Given the description of an element on the screen output the (x, y) to click on. 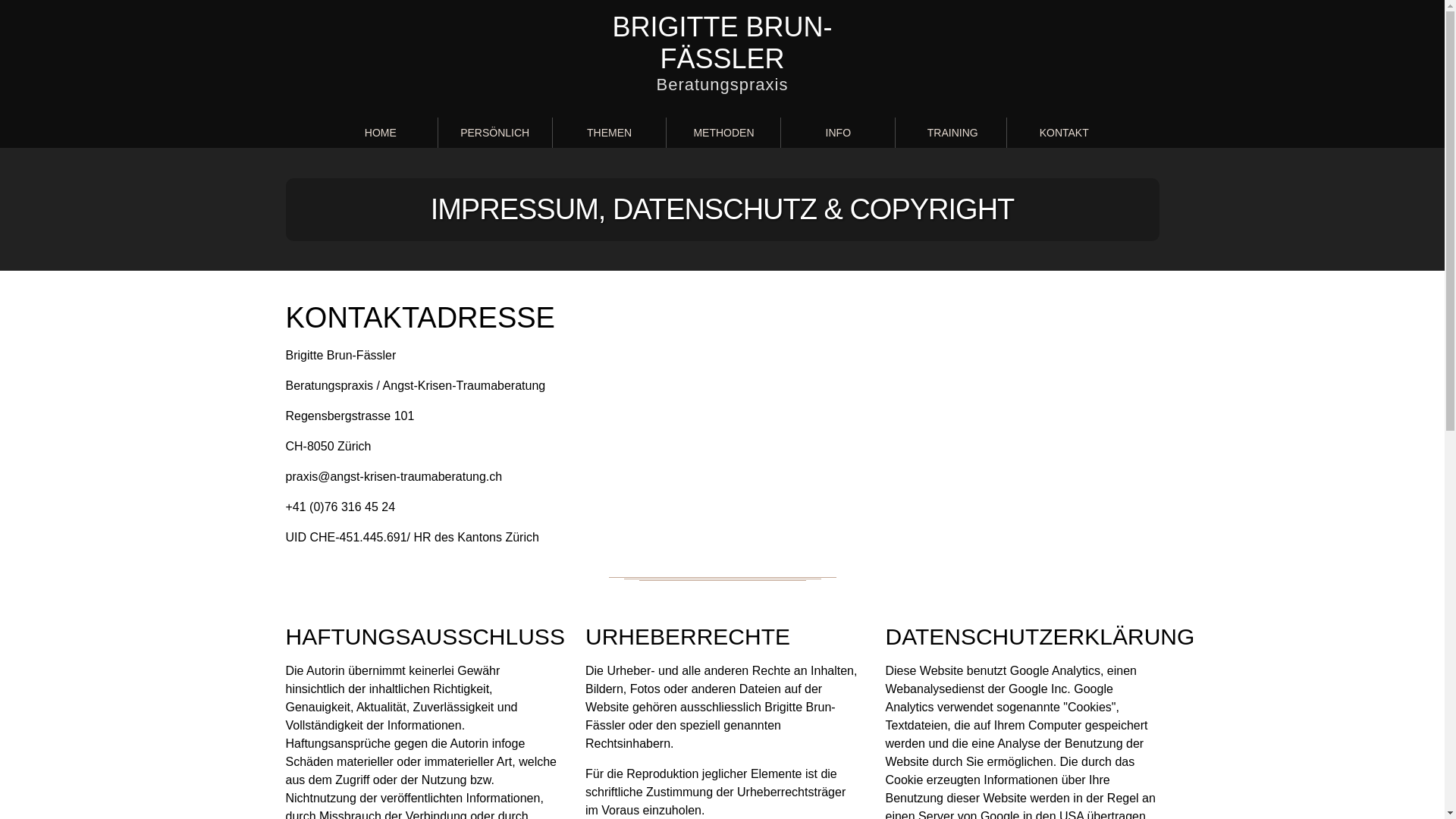
HOME Element type: text (380, 132)
METHODEN Element type: text (723, 132)
TRAINING Element type: text (952, 132)
THEMEN Element type: text (609, 132)
KONTAKT Element type: text (1063, 132)
INFO Element type: text (837, 132)
